Given the description of an element on the screen output the (x, y) to click on. 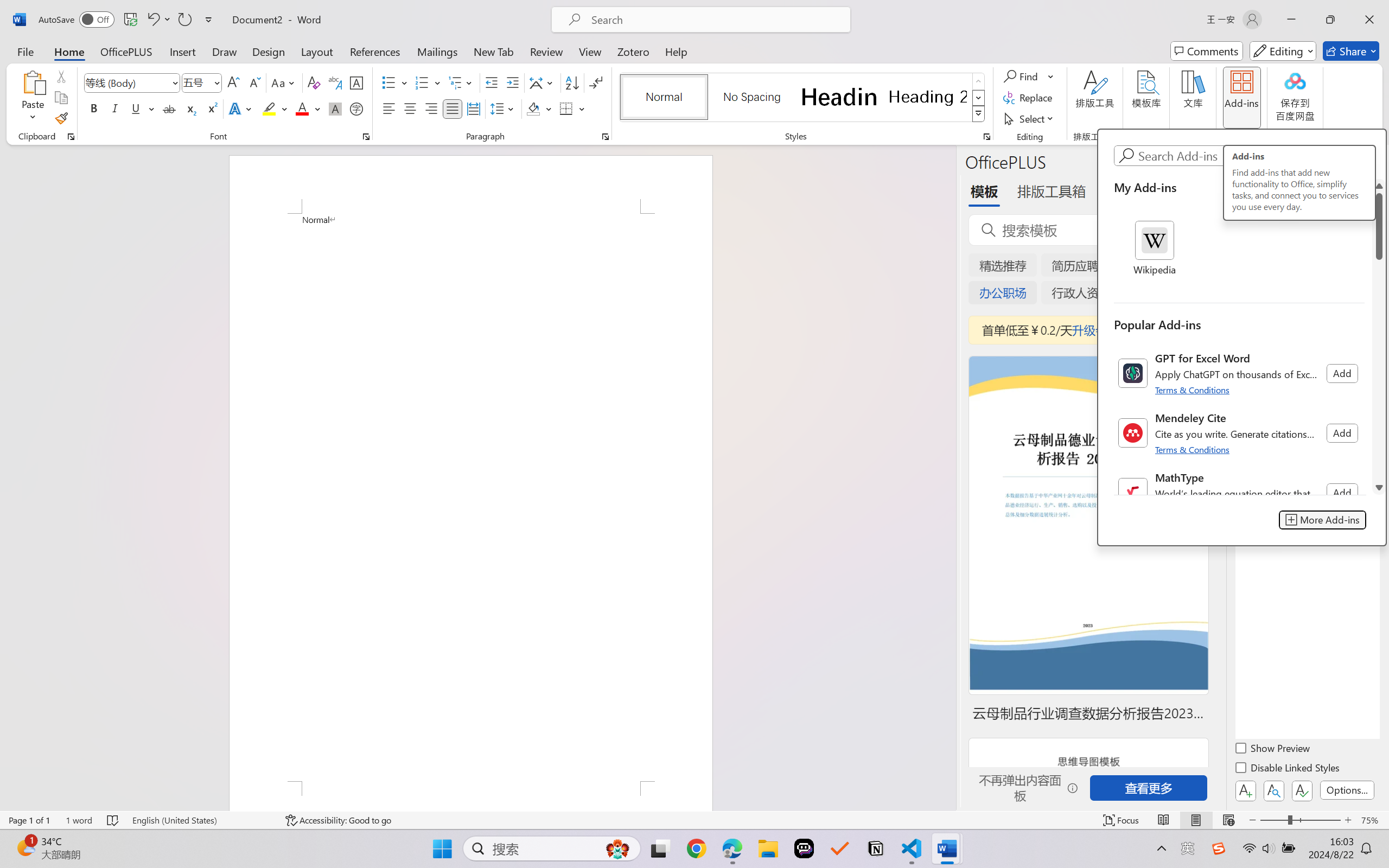
Repeat Doc Close (184, 19)
Bold (94, 108)
Character Border (356, 82)
Font (126, 82)
Font (132, 82)
Find (1022, 75)
Share (1350, 51)
Spelling and Grammar Check No Errors (113, 819)
Grow Font (233, 82)
Search Add-ins (1249, 155)
AutoSave (76, 19)
